Given the description of an element on the screen output the (x, y) to click on. 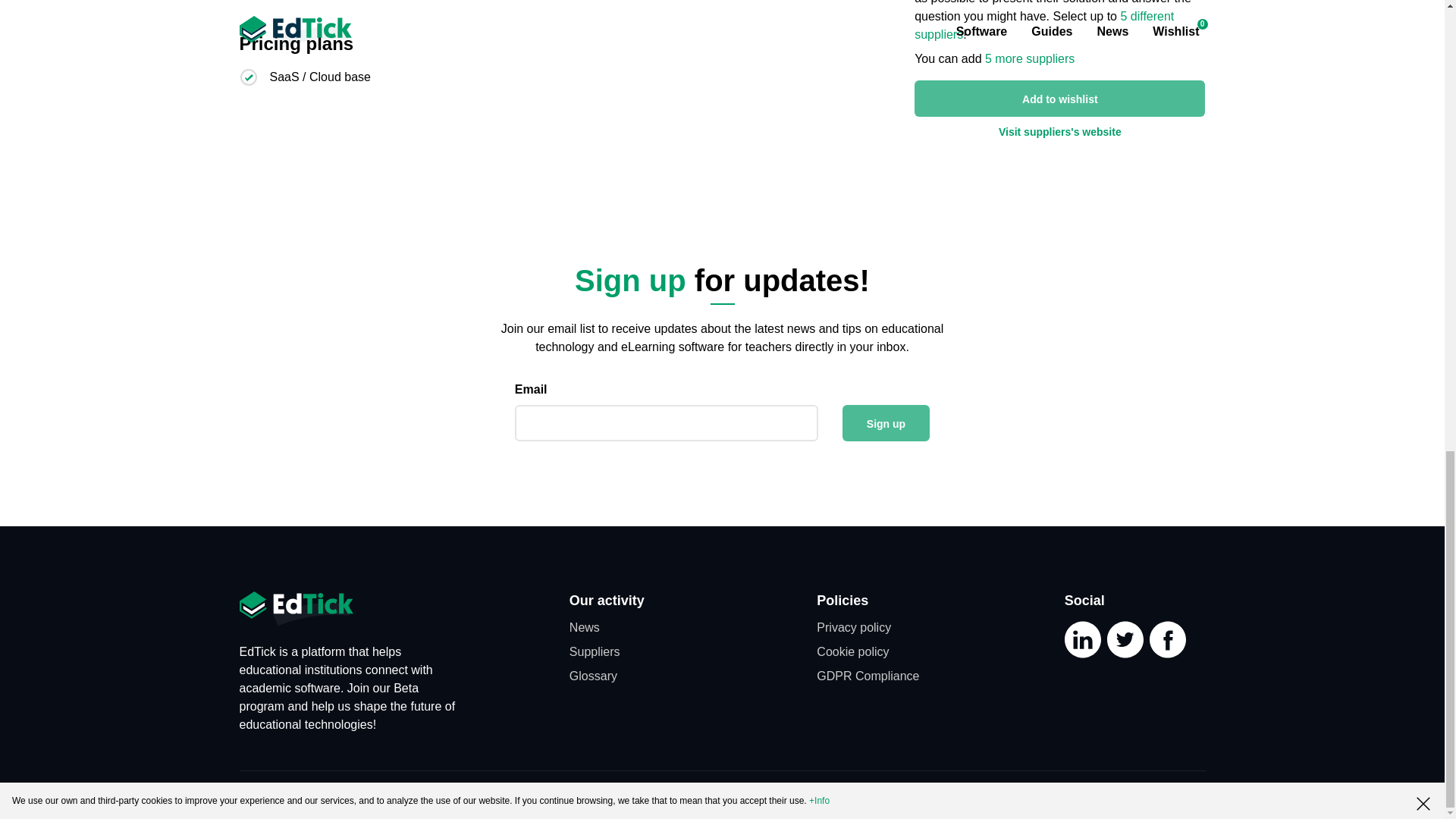
GDPR Compliance (867, 675)
Suppliers (594, 651)
Privacy policy (853, 626)
English (697, 794)
EdTick logo. Go to homepage (296, 610)
Glossary (593, 675)
News (584, 626)
Facebook (1168, 656)
Twitter (1124, 656)
Sign up (886, 422)
Cookie policy (852, 651)
LinkedIn (1082, 656)
